Given the description of an element on the screen output the (x, y) to click on. 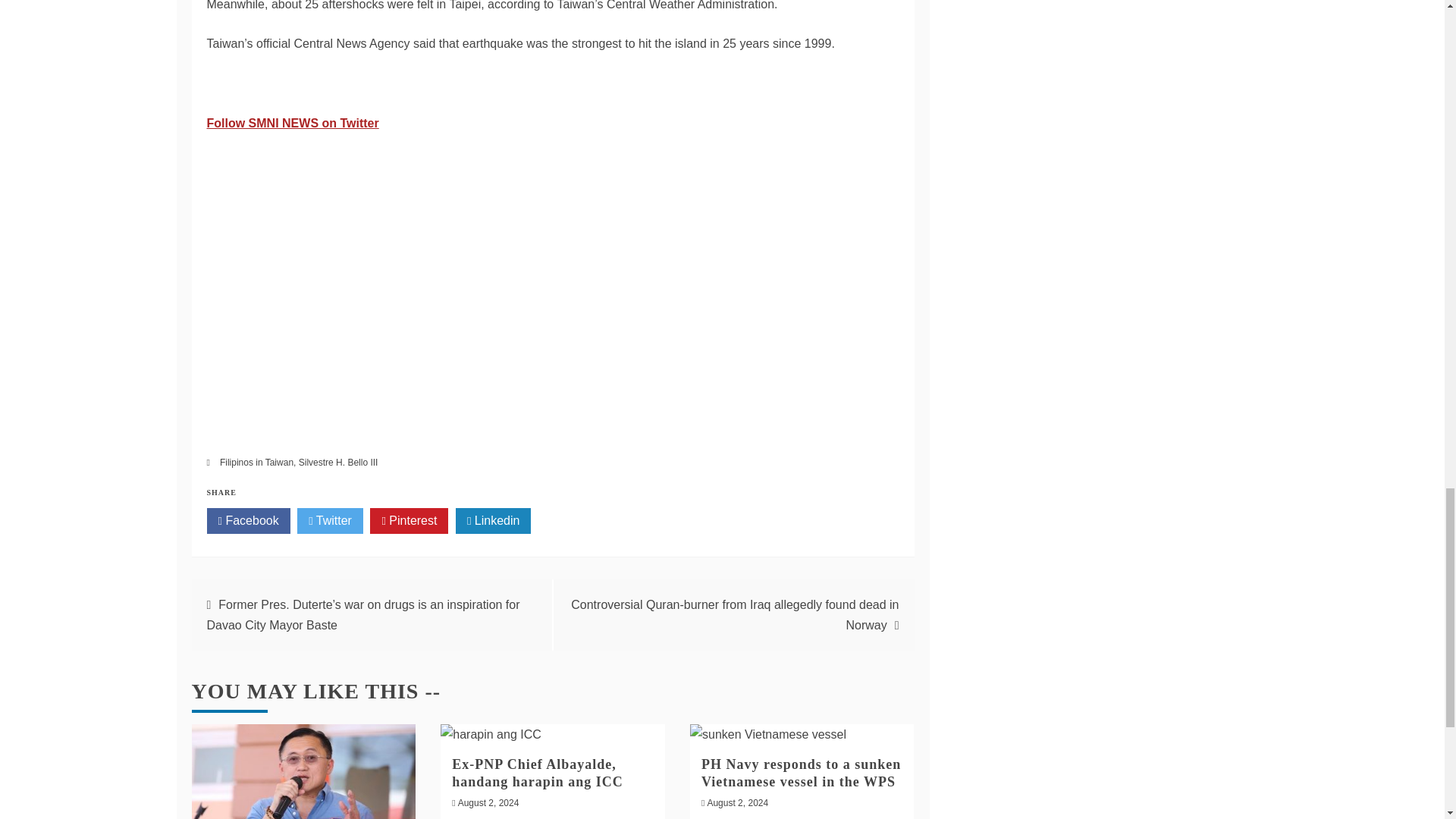
Follow SMNI NEWS on Twitter (292, 123)
Pinterest (408, 520)
Filipinos in Taiwan (256, 462)
Twitter (329, 520)
Silvestre H. Bello III (338, 462)
Linkedin (493, 520)
Facebook (247, 520)
